Given the description of an element on the screen output the (x, y) to click on. 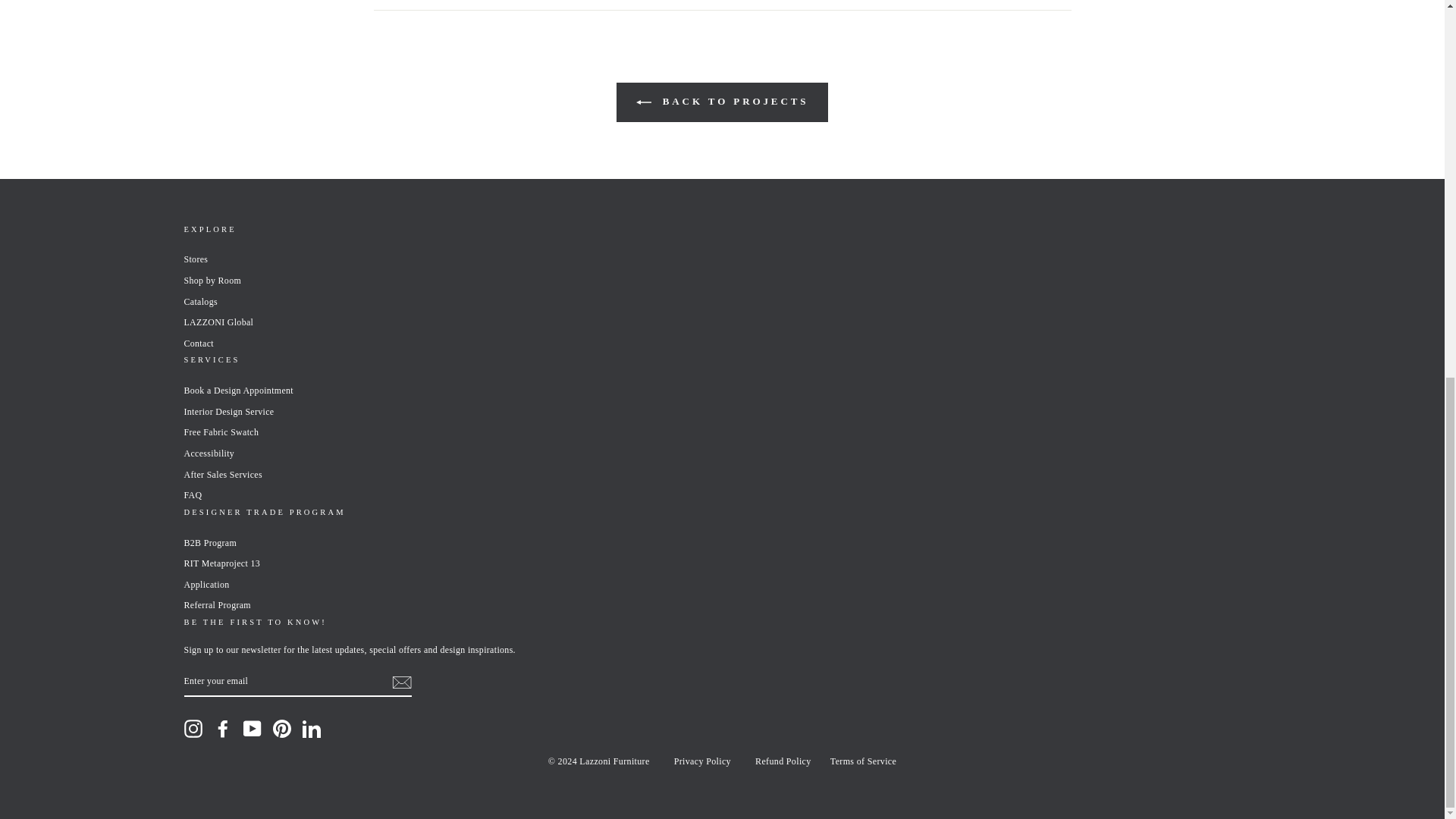
Lazzoni Furniture on Instagram (192, 728)
Lazzoni Furniture on YouTube (251, 728)
Lazzoni Furniture on Facebook (222, 728)
Lazzoni Furniture on LinkedIn (310, 728)
Lazzoni Furniture on Pinterest (282, 728)
